Given the description of an element on the screen output the (x, y) to click on. 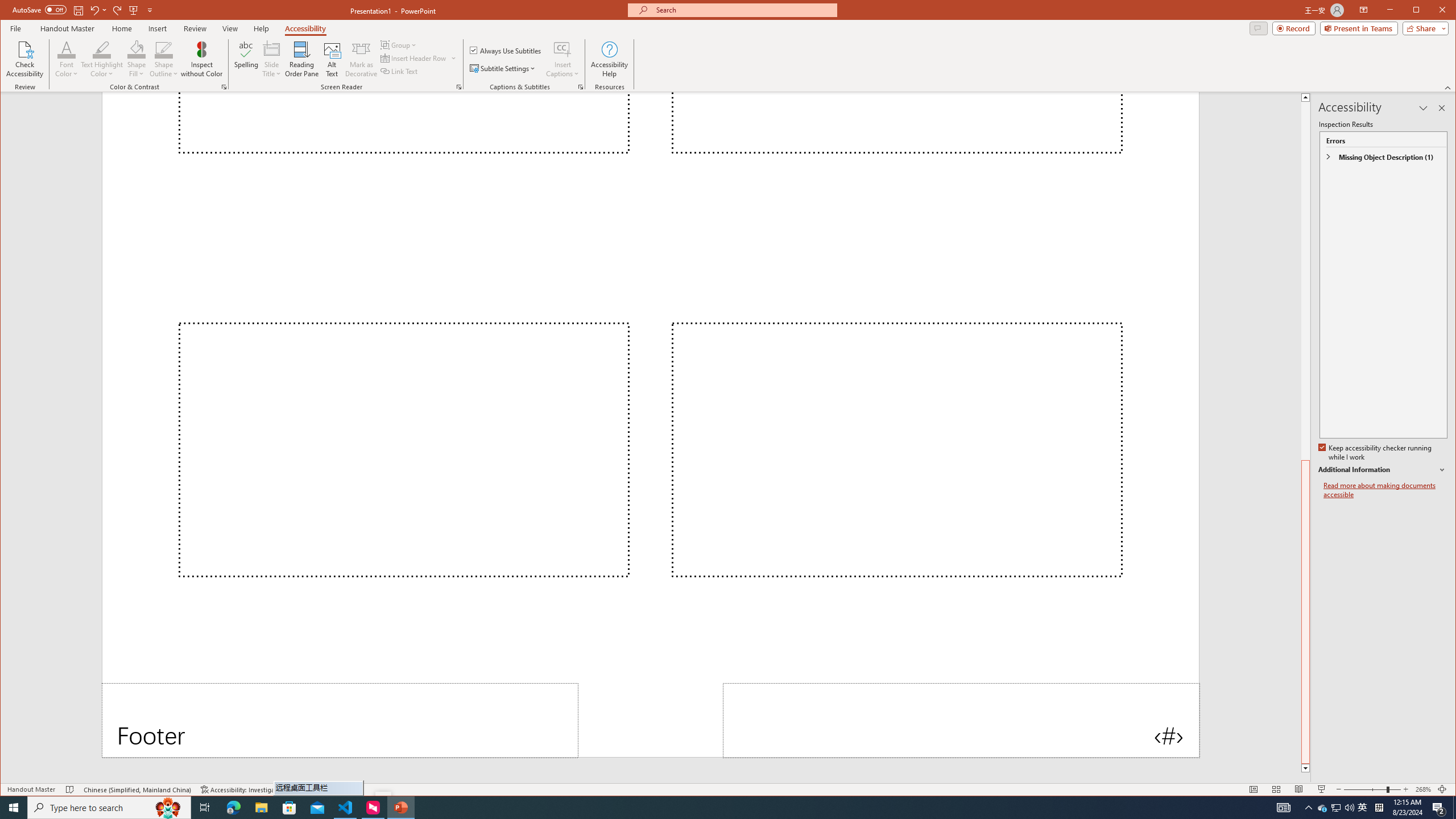
Undo (98, 9)
Font Color (66, 48)
Zoom In (1405, 789)
Comments (1258, 28)
Zoom (1371, 789)
Zoom Out (1364, 789)
Alt Text (331, 59)
Microsoft Store (289, 807)
Insert Captions (562, 48)
Spelling... (246, 59)
Link Text (399, 70)
Slide Title (271, 48)
More Options (562, 69)
Mark as Decorative (360, 59)
